Given the description of an element on the screen output the (x, y) to click on. 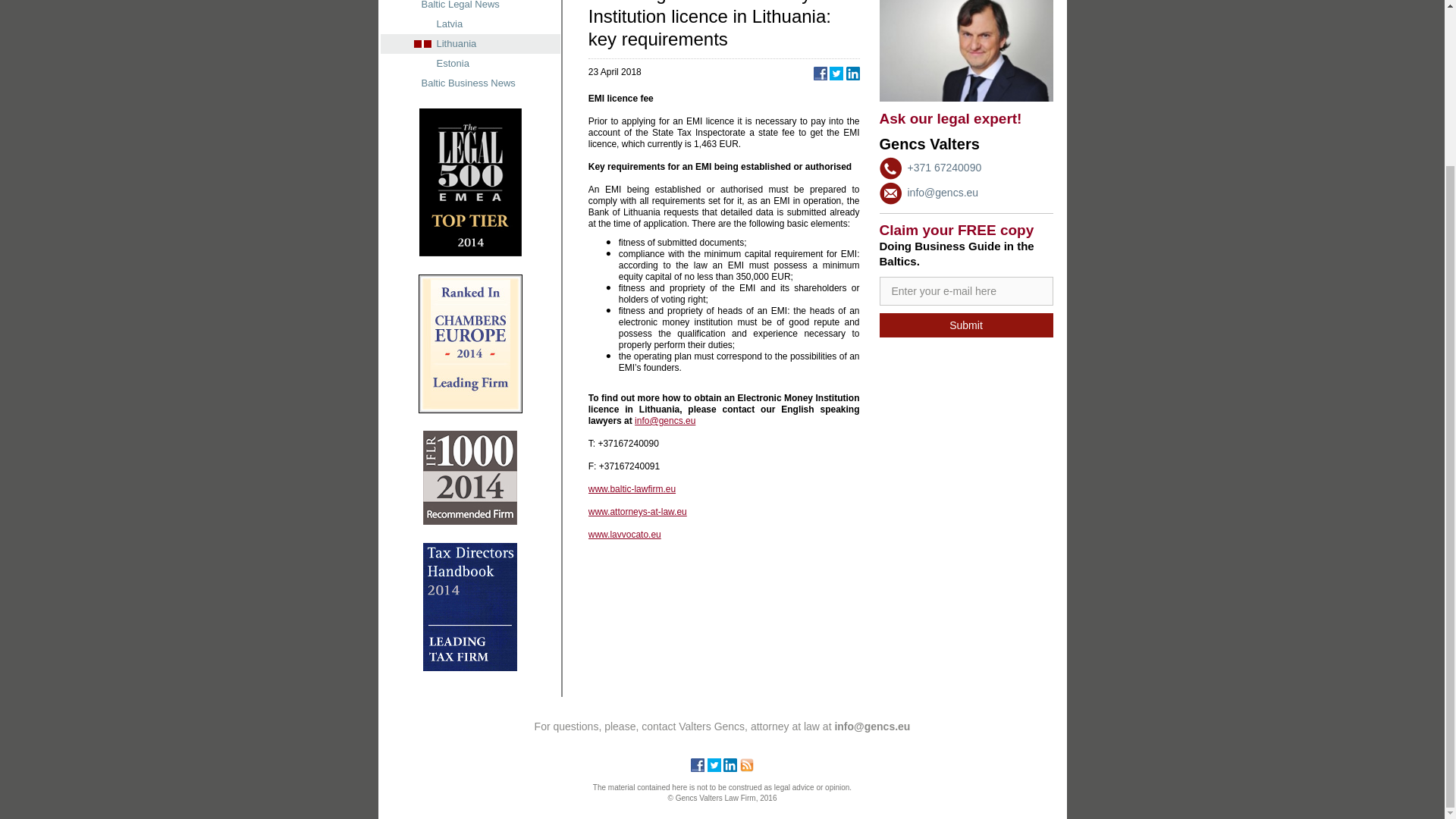
Twitter (713, 767)
folow us (713, 765)
rss (746, 767)
title (965, 290)
folow us (697, 765)
folow us (729, 765)
Facebook (697, 767)
rss (746, 765)
Linkedin (729, 767)
Submit (965, 324)
